Given the description of an element on the screen output the (x, y) to click on. 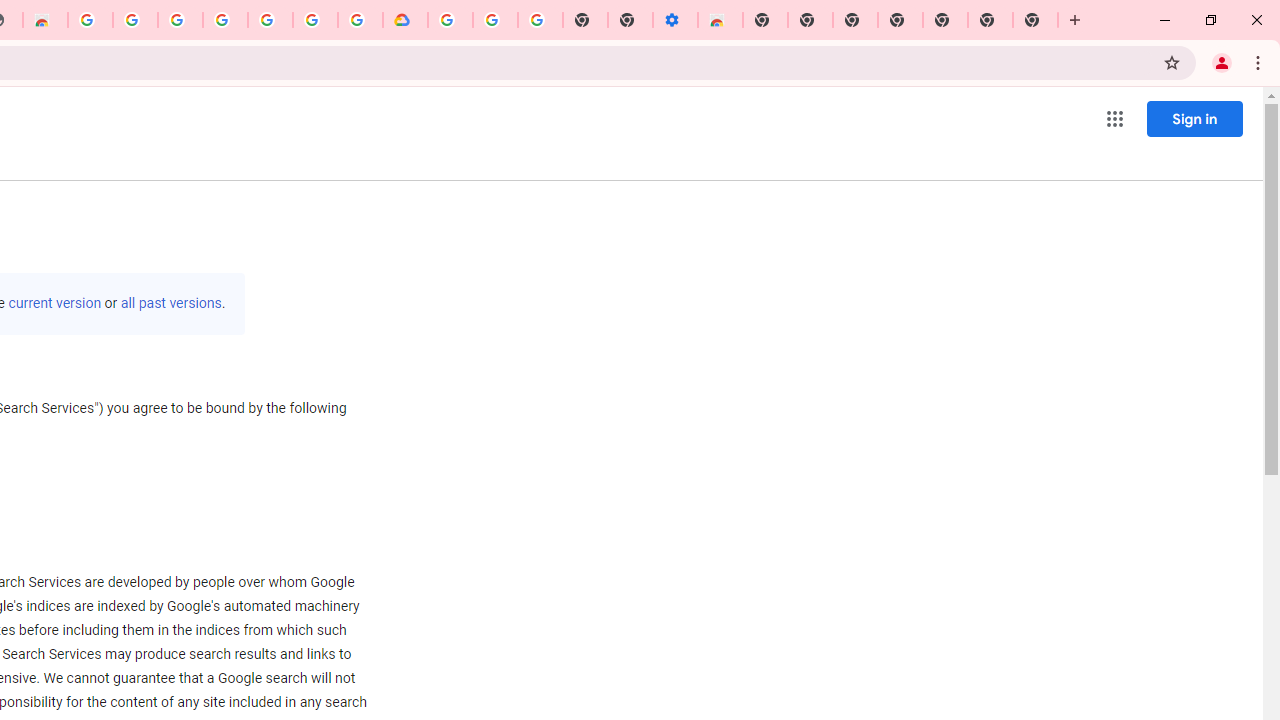
Turn cookies on or off - Computer - Google Account Help (540, 20)
Chrome Web Store - Accessibility extensions (720, 20)
Google Account Help (495, 20)
Settings - Accessibility (674, 20)
New Tab (944, 20)
